Given the description of an element on the screen output the (x, y) to click on. 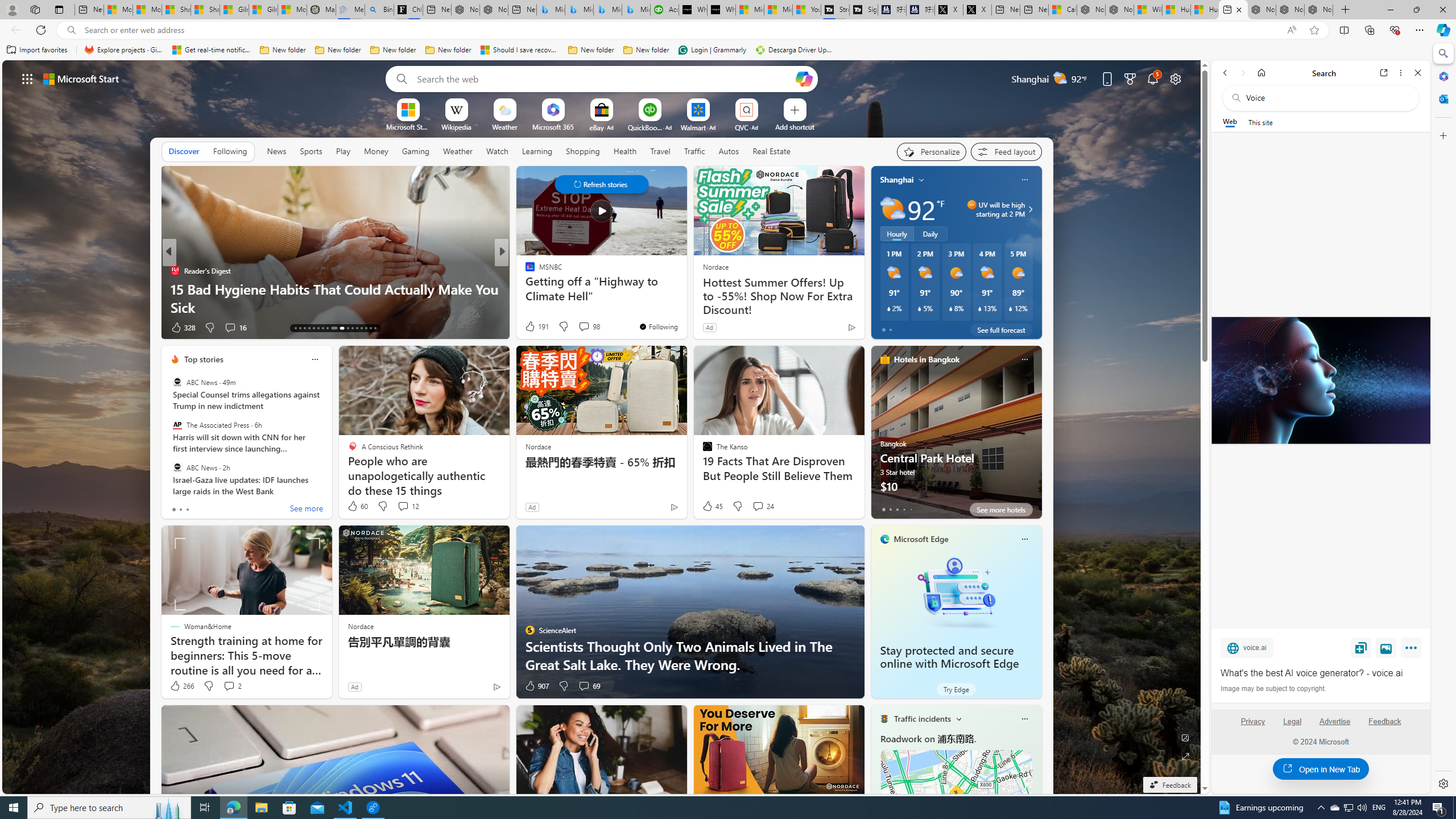
7 Things You Should Negotiate Other Than Your Salary (684, 298)
Feed settings (1005, 151)
Microsoft Bing Travel - Shangri-La Hotel Bangkok (636, 9)
266 Like (181, 685)
View comments 7 Comment (576, 327)
Microsoft rewards (1129, 78)
AutomationID: tab-19 (322, 328)
AutomationID: tab-20 (327, 328)
Money (376, 151)
Chloe Sorvino (408, 9)
tab-3 (903, 509)
